Given the description of an element on the screen output the (x, y) to click on. 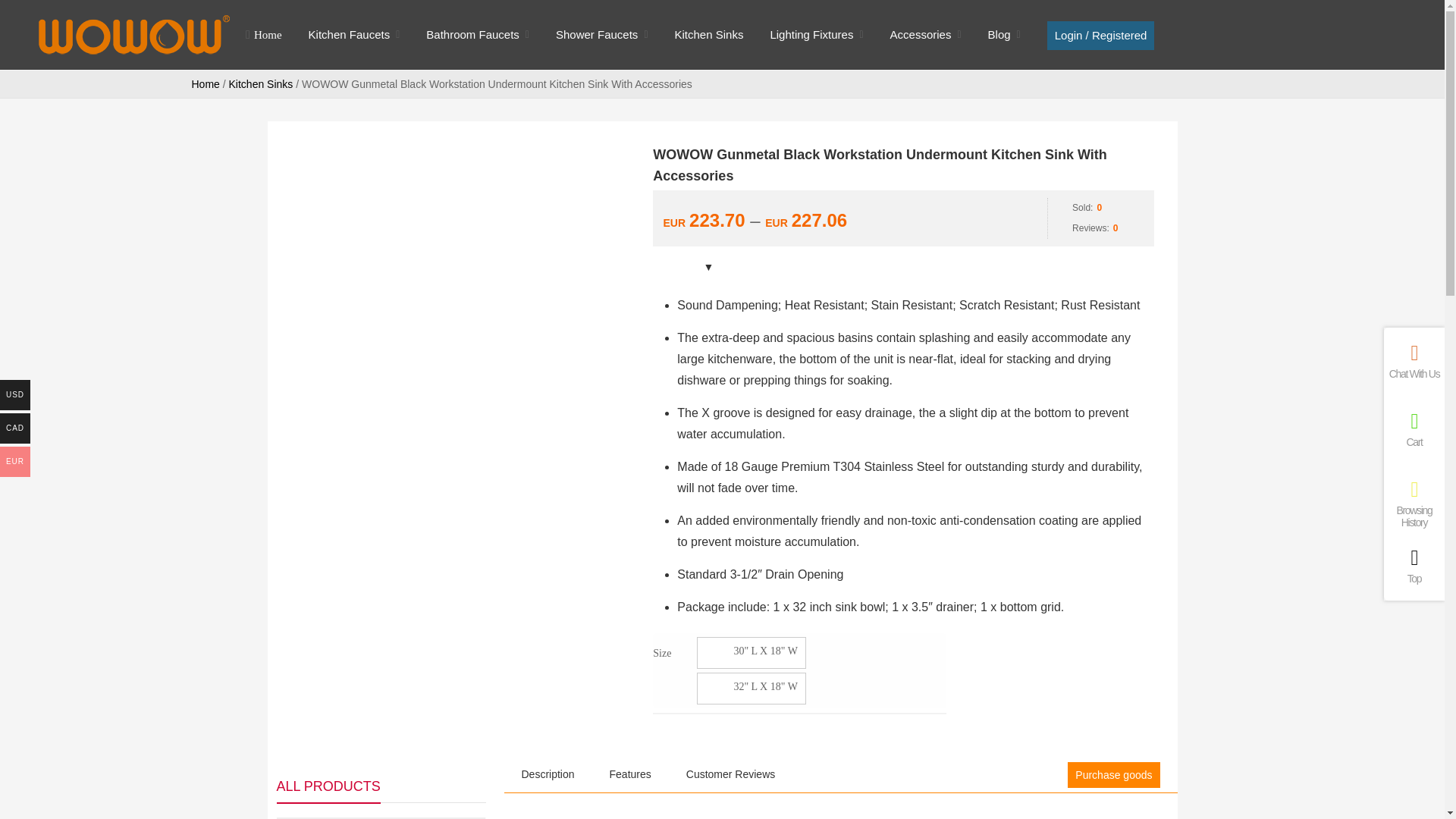
Kitchen Sinks (709, 34)
Shower Faucets (596, 34)
Lighting Fixtures (811, 34)
Kitchen Faucets (349, 34)
Bathroom Faucets (472, 34)
30 (751, 652)
Please select your currency (903, 217)
32 (751, 687)
